Given the description of an element on the screen output the (x, y) to click on. 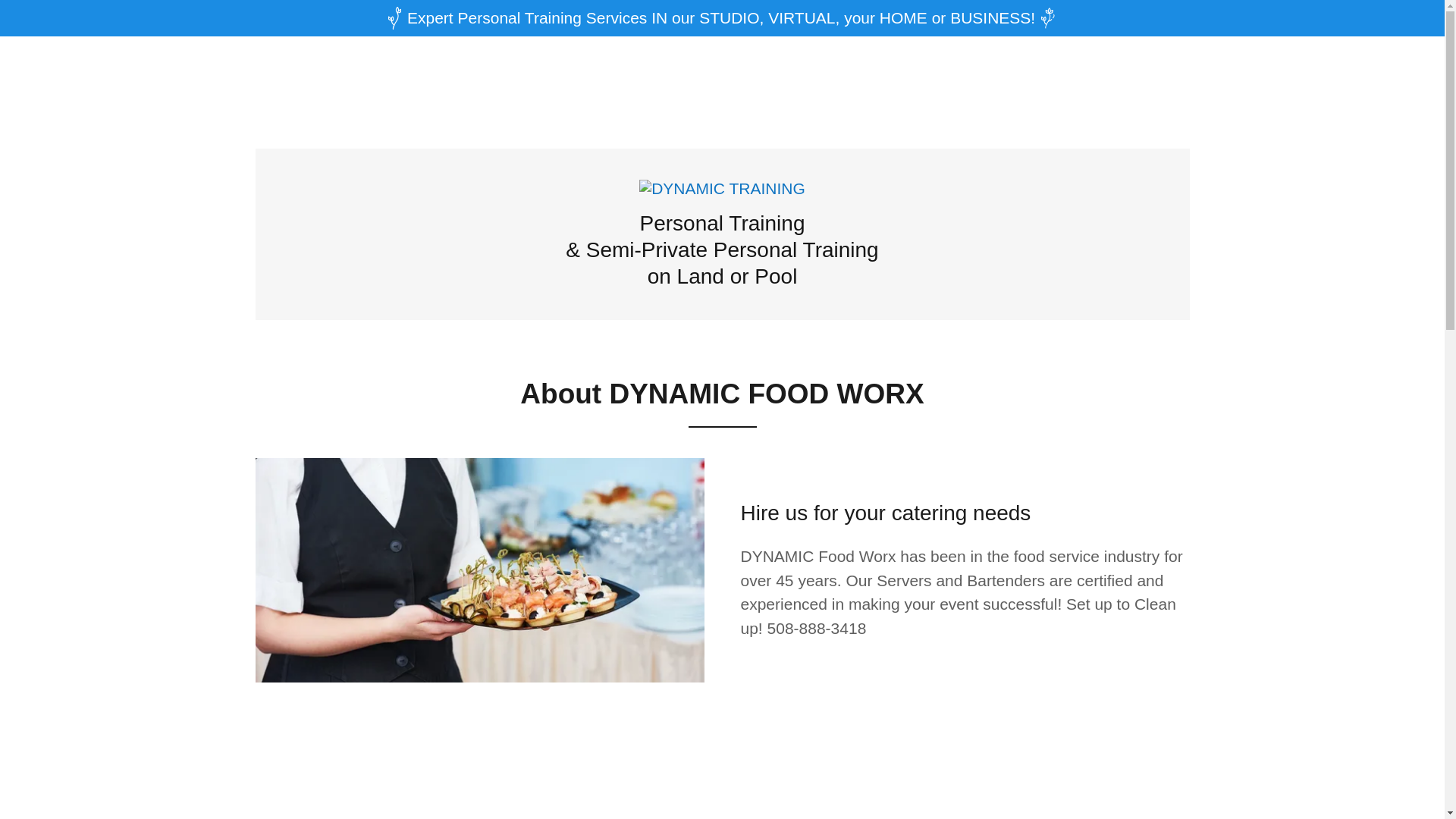
DYNAMIC TRAINING (722, 187)
